Given the description of an element on the screen output the (x, y) to click on. 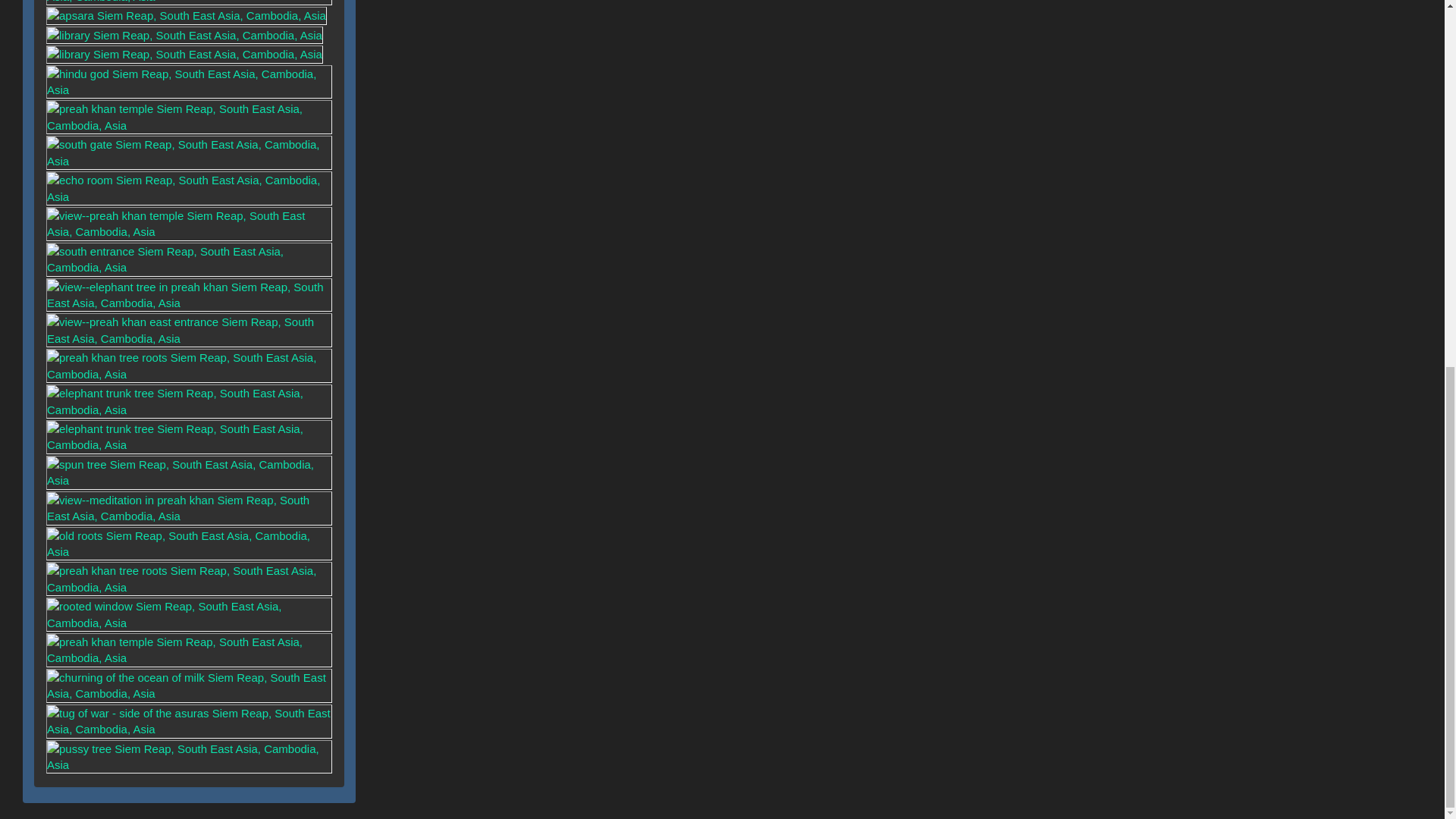
apsara (188, 29)
library (184, 33)
center stupa in preah khan (188, 15)
